Given the description of an element on the screen output the (x, y) to click on. 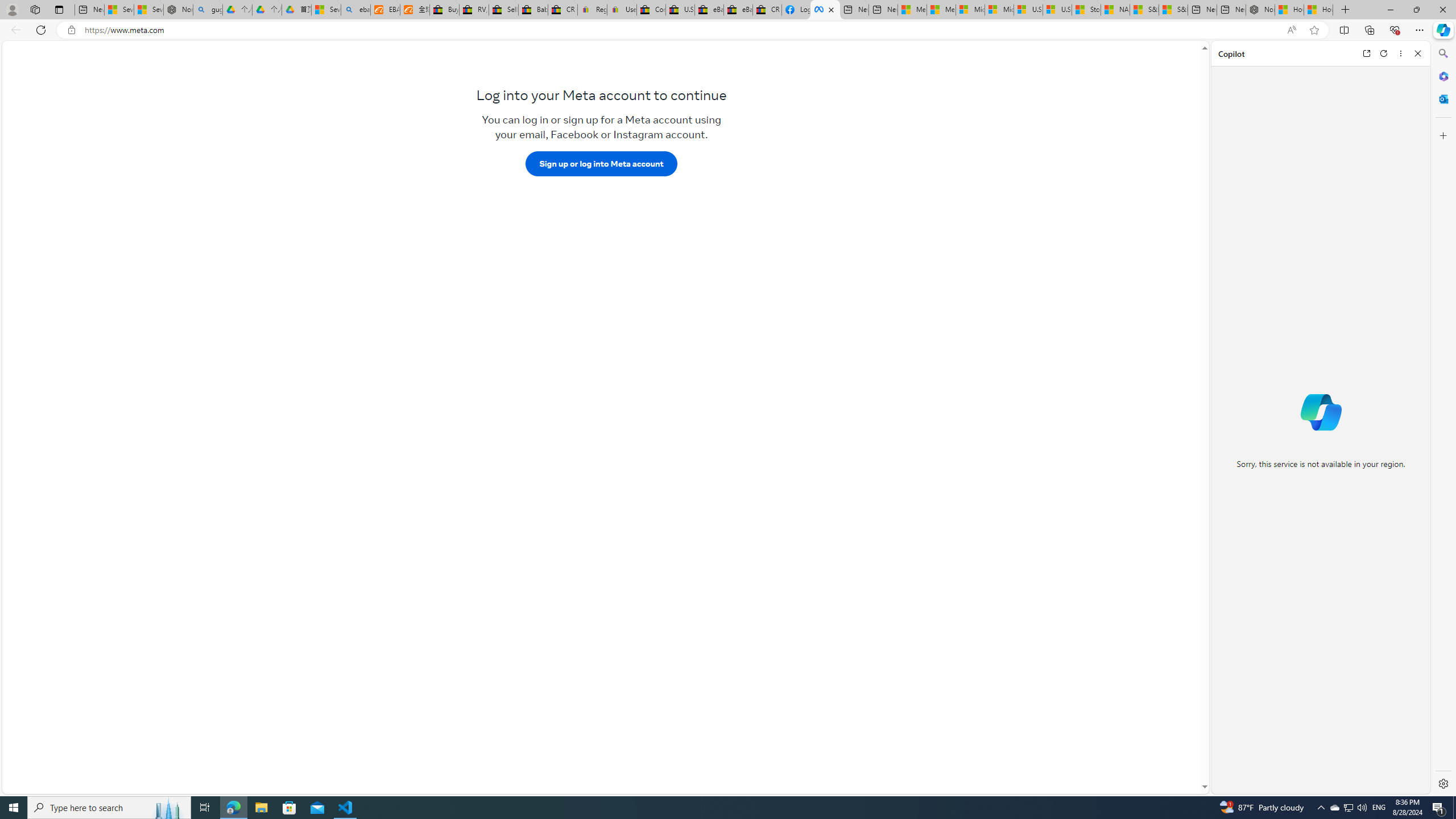
RV, Trailer & Camper Steps & Ladders for sale | eBay (473, 9)
Microsoft 365 (1442, 76)
Sell worldwide with eBay (502, 9)
Outlook (1442, 98)
Side bar (1443, 418)
S&P 500, Nasdaq end lower, weighed by Nvidia dip | Watch (1173, 9)
